Given the description of an element on the screen output the (x, y) to click on. 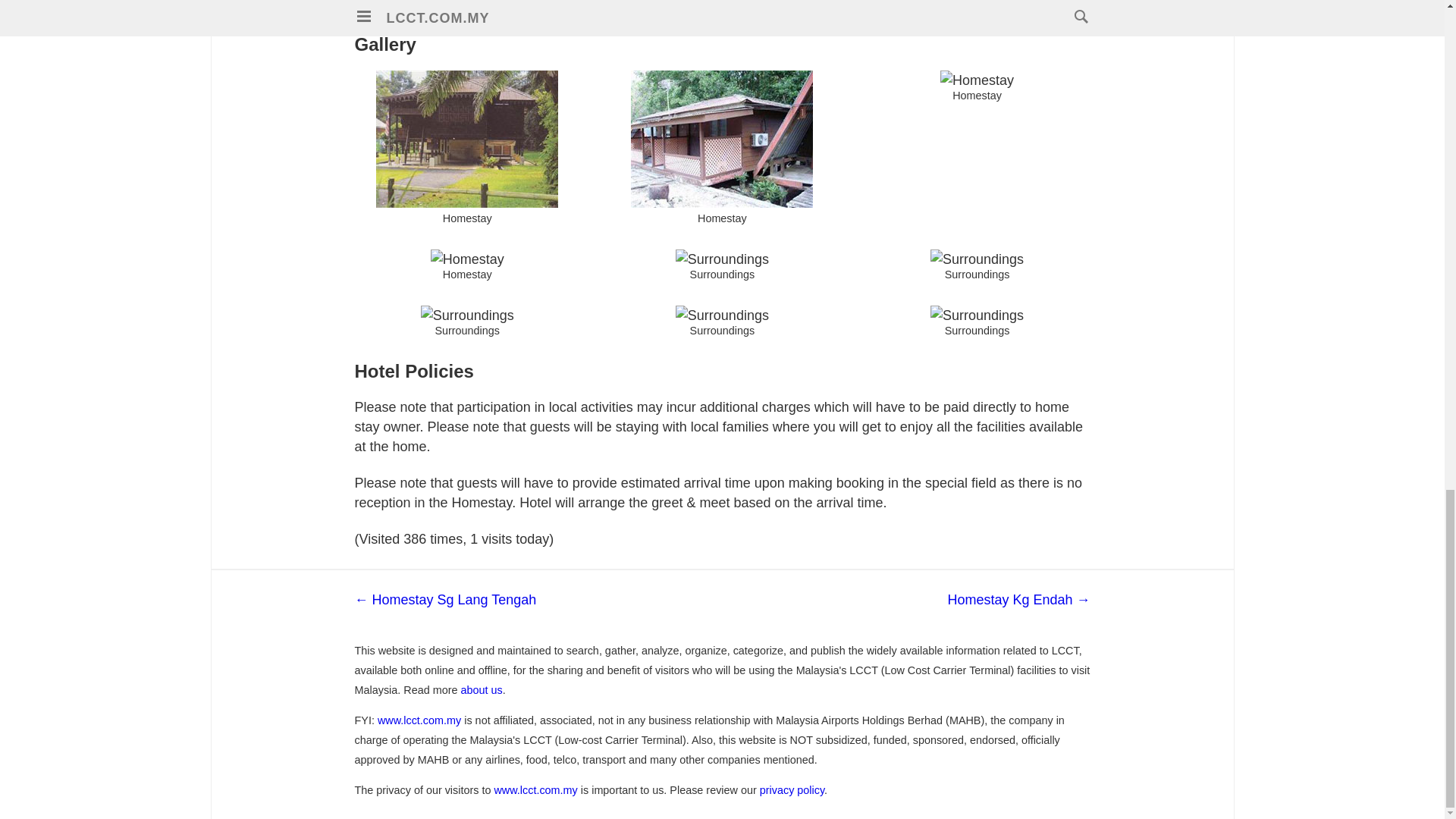
about us (481, 689)
Surroundings (721, 315)
Surroundings (466, 315)
www.lcct.com.my (534, 789)
Surroundings (976, 315)
Homestay (466, 259)
privacy policy (792, 789)
www.lcct.com.my (419, 720)
Surroundings (721, 259)
Homestay (466, 139)
Homestay (976, 80)
Homestay (721, 139)
Surroundings (976, 259)
